Given the description of an element on the screen output the (x, y) to click on. 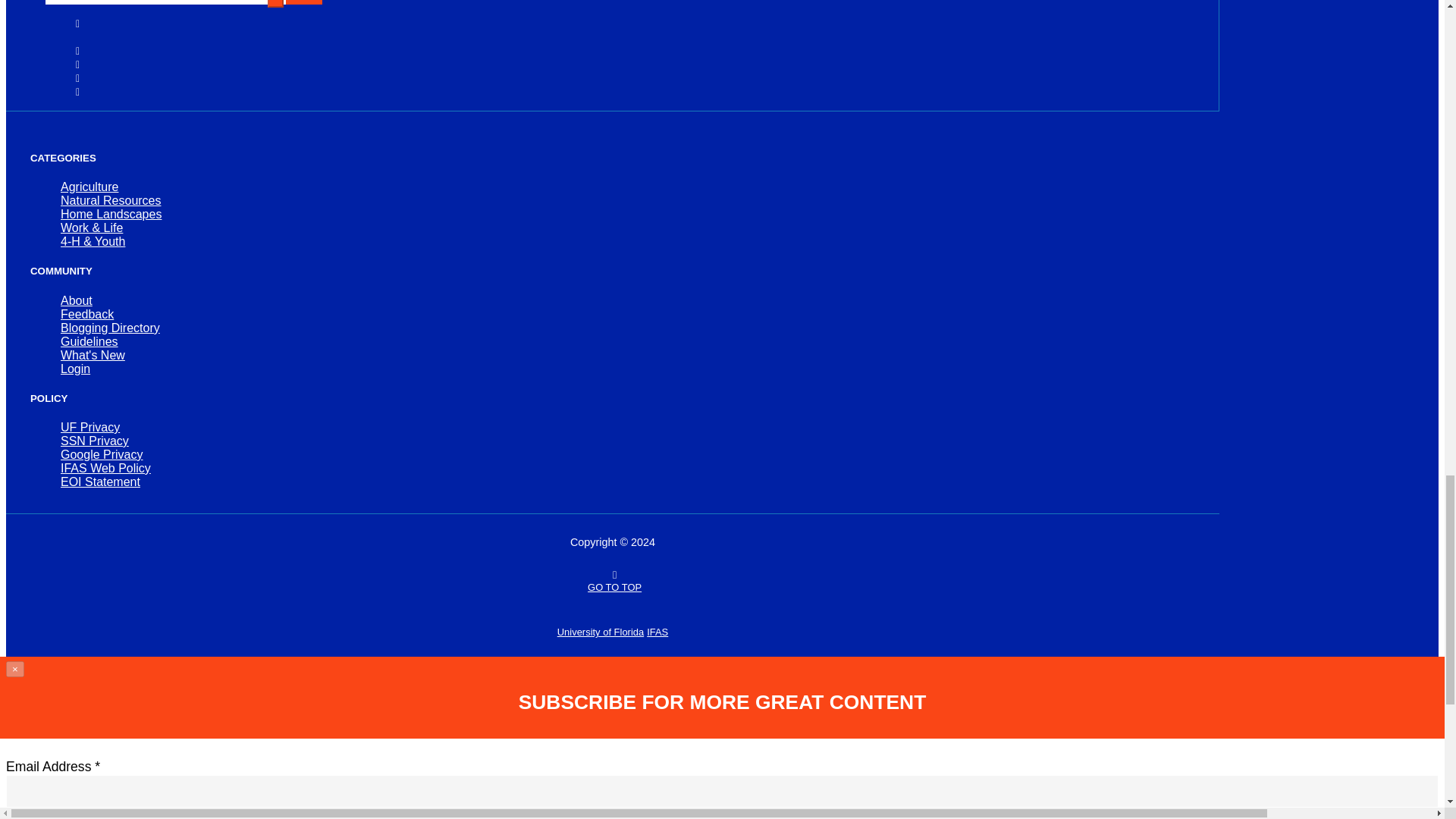
Enter Email Address (165, 2)
